Given the description of an element on the screen output the (x, y) to click on. 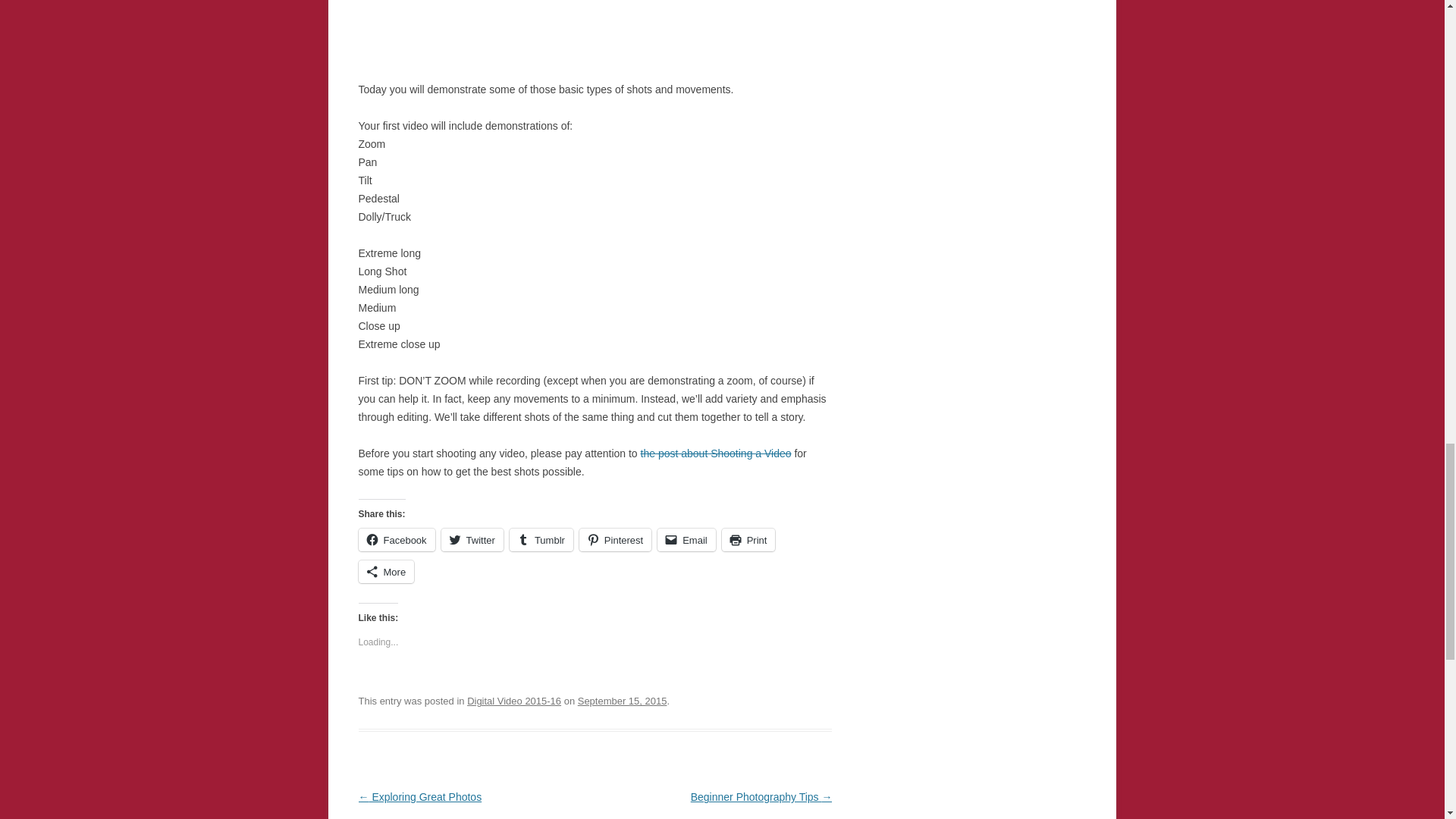
Click to share on Facebook (395, 539)
September 15, 2015 (622, 700)
Shooting a Video! (716, 453)
Click to share on Twitter (472, 539)
Click to print (749, 539)
Twitter (472, 539)
Email (687, 539)
Print (749, 539)
Facebook (395, 539)
Pinterest (614, 539)
Click to email a link to a friend (687, 539)
the post about Shooting a Video (716, 453)
Tumblr (541, 539)
Digital Video 2015-16 (513, 700)
8:27 am (622, 700)
